Given the description of an element on the screen output the (x, y) to click on. 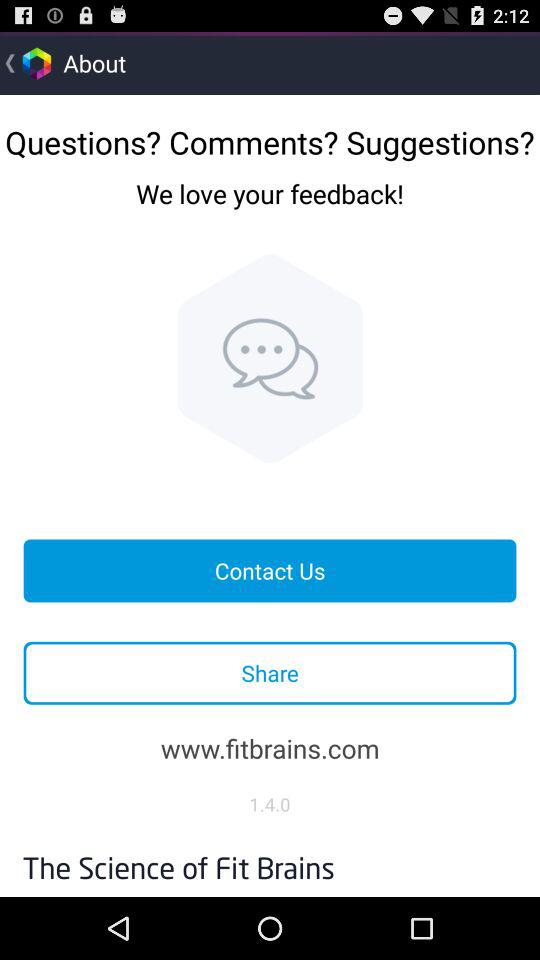
turn on the icon below we love your app (270, 358)
